Given the description of an element on the screen output the (x, y) to click on. 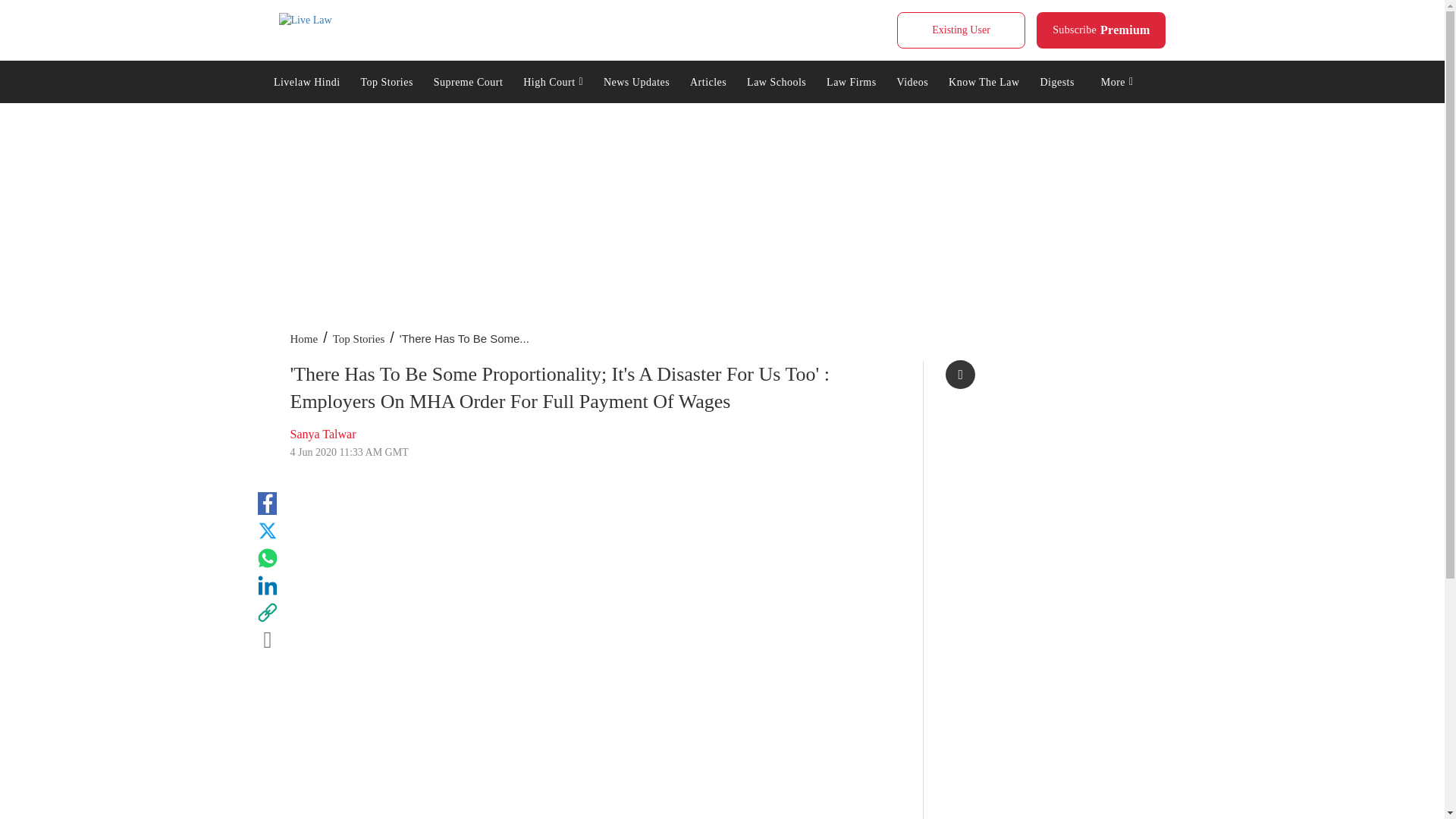
Existing User (960, 30)
Supreme Court (1101, 30)
Top Stories (467, 80)
Live Law (386, 80)
High Court (305, 20)
Livelaw Hindi (553, 80)
